Given the description of an element on the screen output the (x, y) to click on. 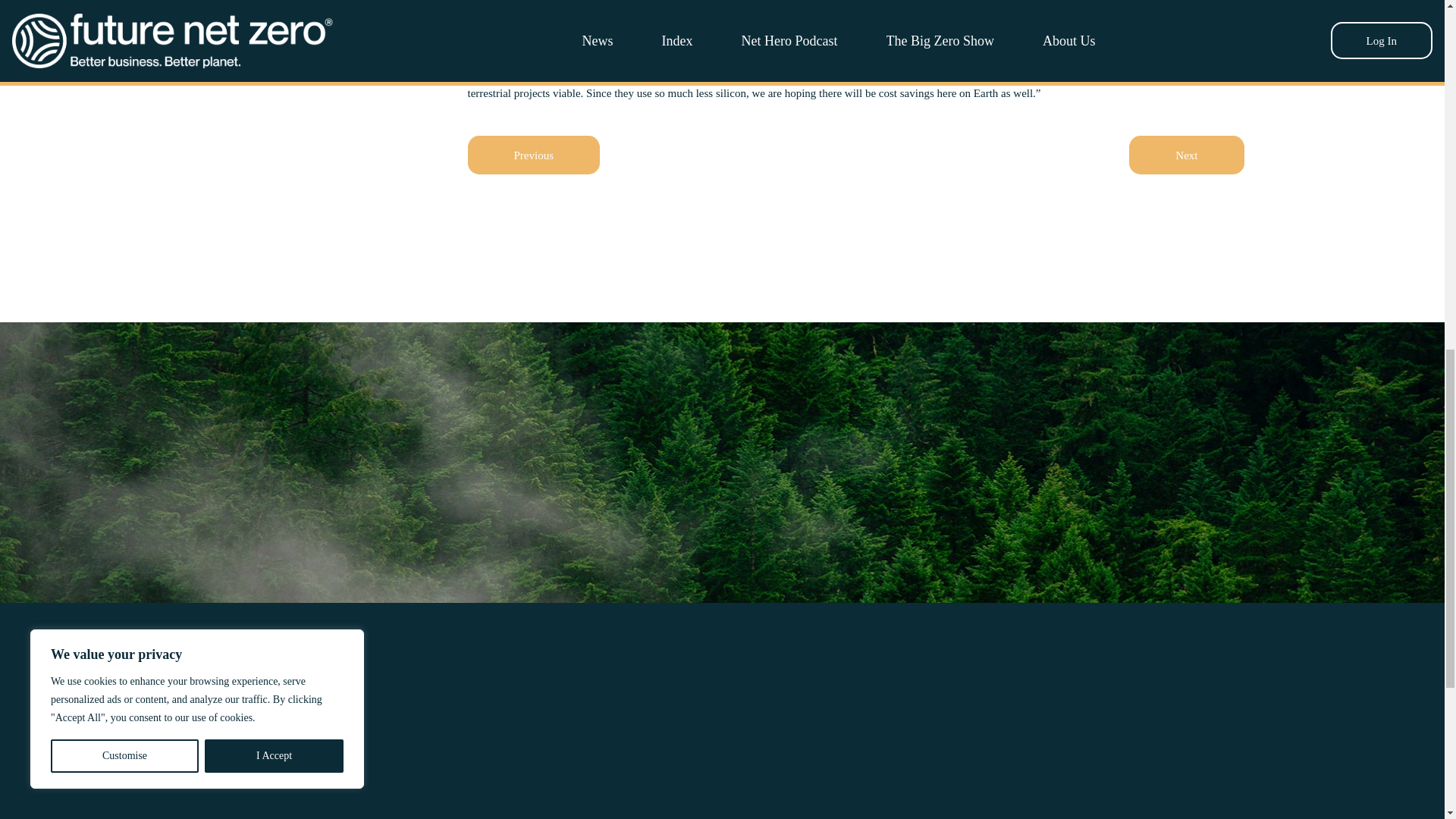
photovoltaics (718, 75)
Next (1186, 154)
Previous (533, 154)
